Given the description of an element on the screen output the (x, y) to click on. 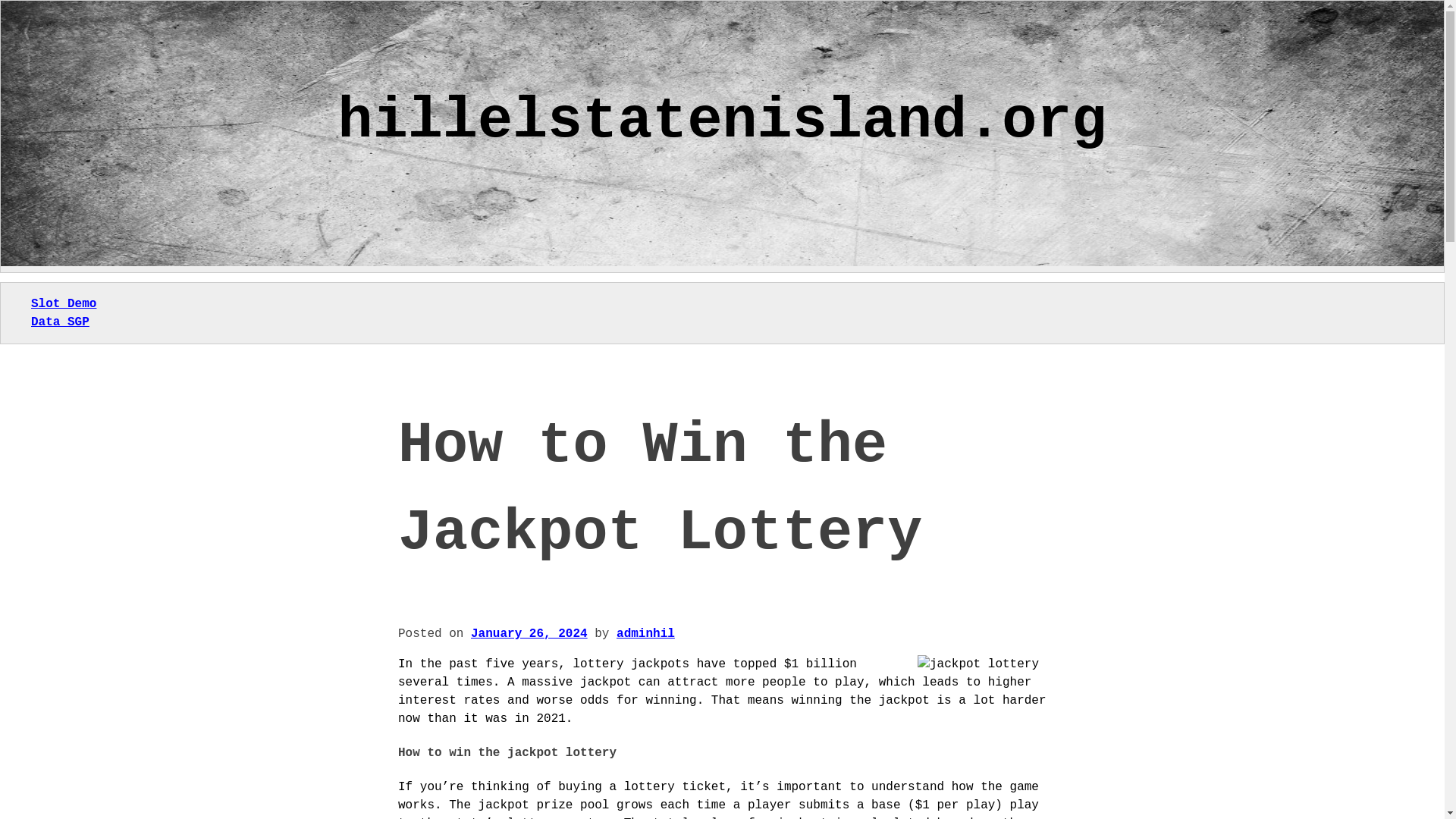
adminhil (645, 633)
January 26, 2024 (529, 633)
hillelstatenisland.org (721, 120)
Slot Demo (63, 304)
Data SGP (59, 322)
